Given the description of an element on the screen output the (x, y) to click on. 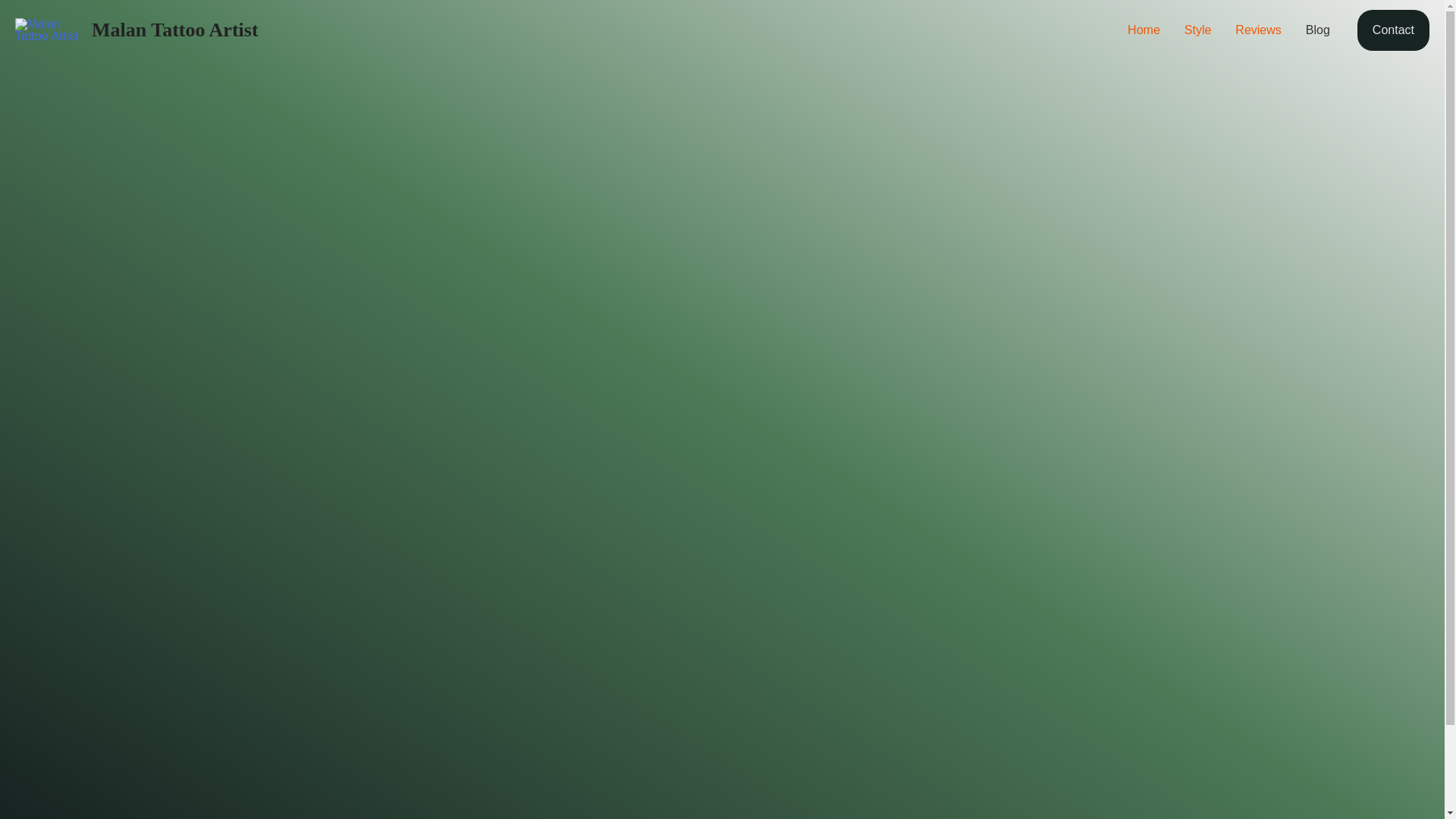
Home (1143, 30)
Malan Tattoo Artist (175, 29)
Reviews (1257, 30)
Contact (1392, 29)
